Given the description of an element on the screen output the (x, y) to click on. 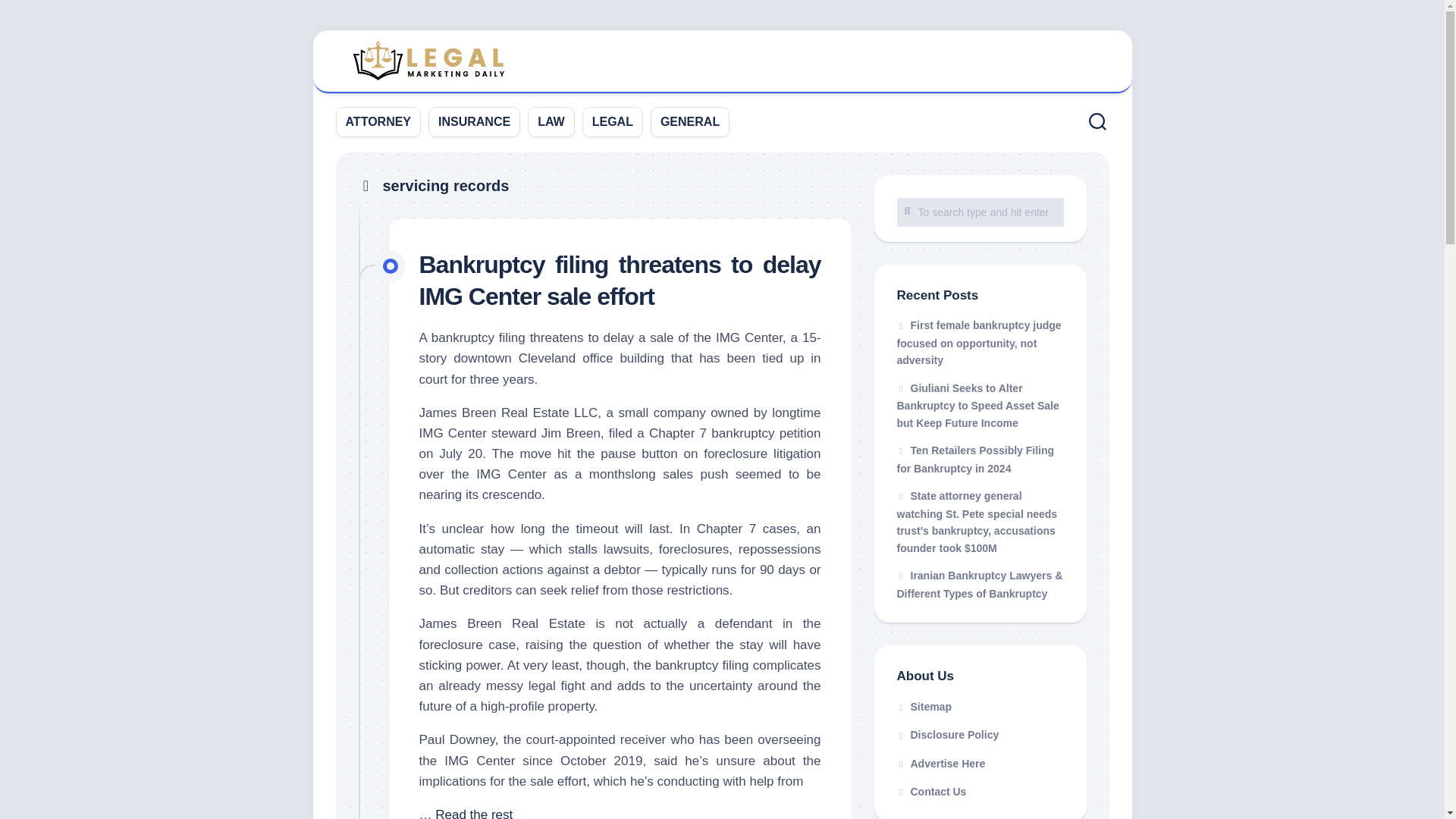
Bankruptcy filing threatens to delay IMG Center sale effort (620, 280)
Disclosure Policy (979, 735)
To search type and hit enter (979, 212)
Sitemap (979, 706)
LAW (550, 121)
ATTORNEY (379, 121)
LEGAL (612, 121)
Read the rest (473, 813)
Ten Retailers Possibly Filing for Bankruptcy in 2024 (975, 459)
INSURANCE (474, 121)
Advertise Here (979, 764)
GENERAL (690, 121)
Contact Us (979, 792)
